Given the description of an element on the screen output the (x, y) to click on. 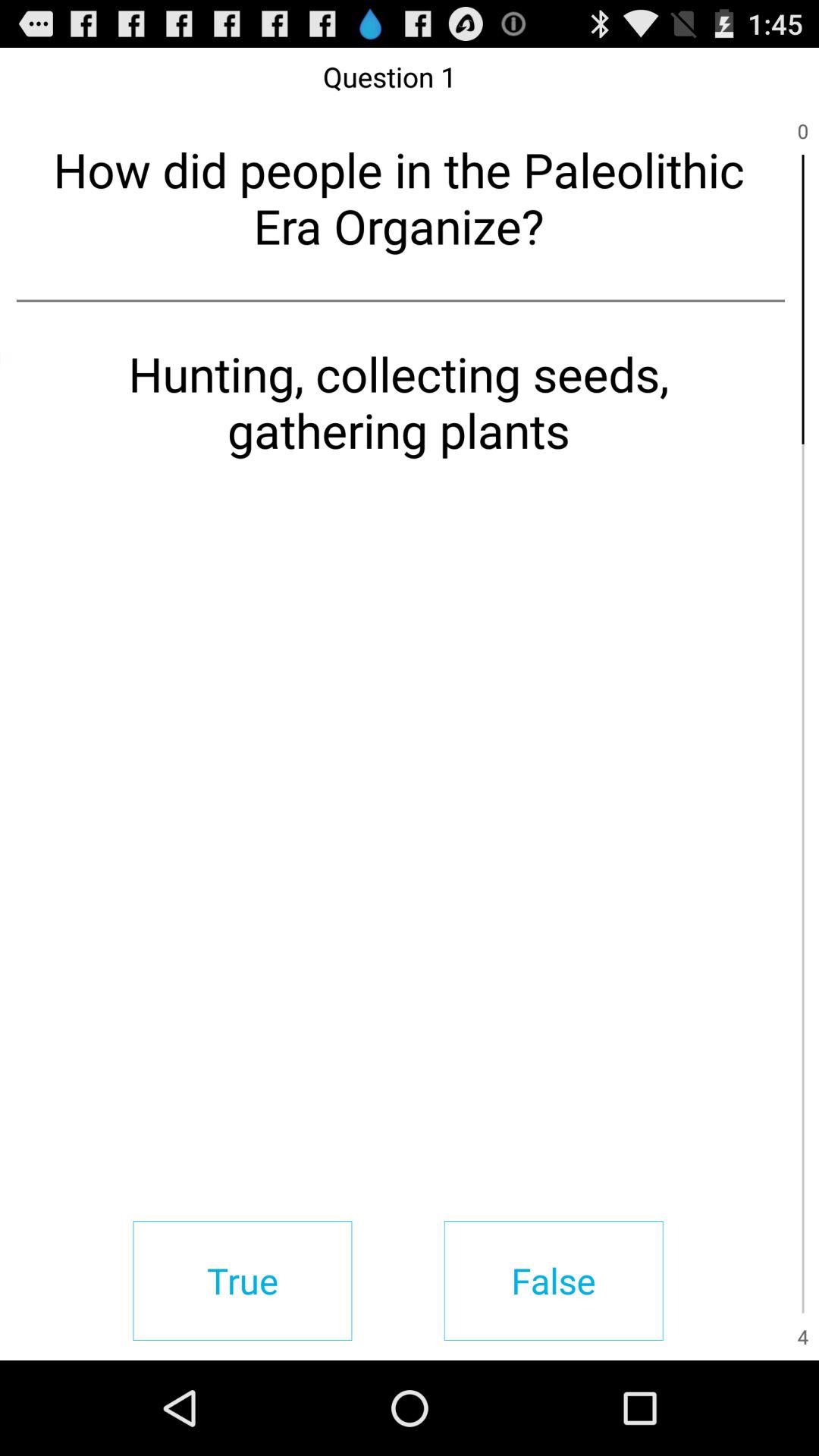
press item next to the hunting collecting seeds item (802, 588)
